Given the description of an element on the screen output the (x, y) to click on. 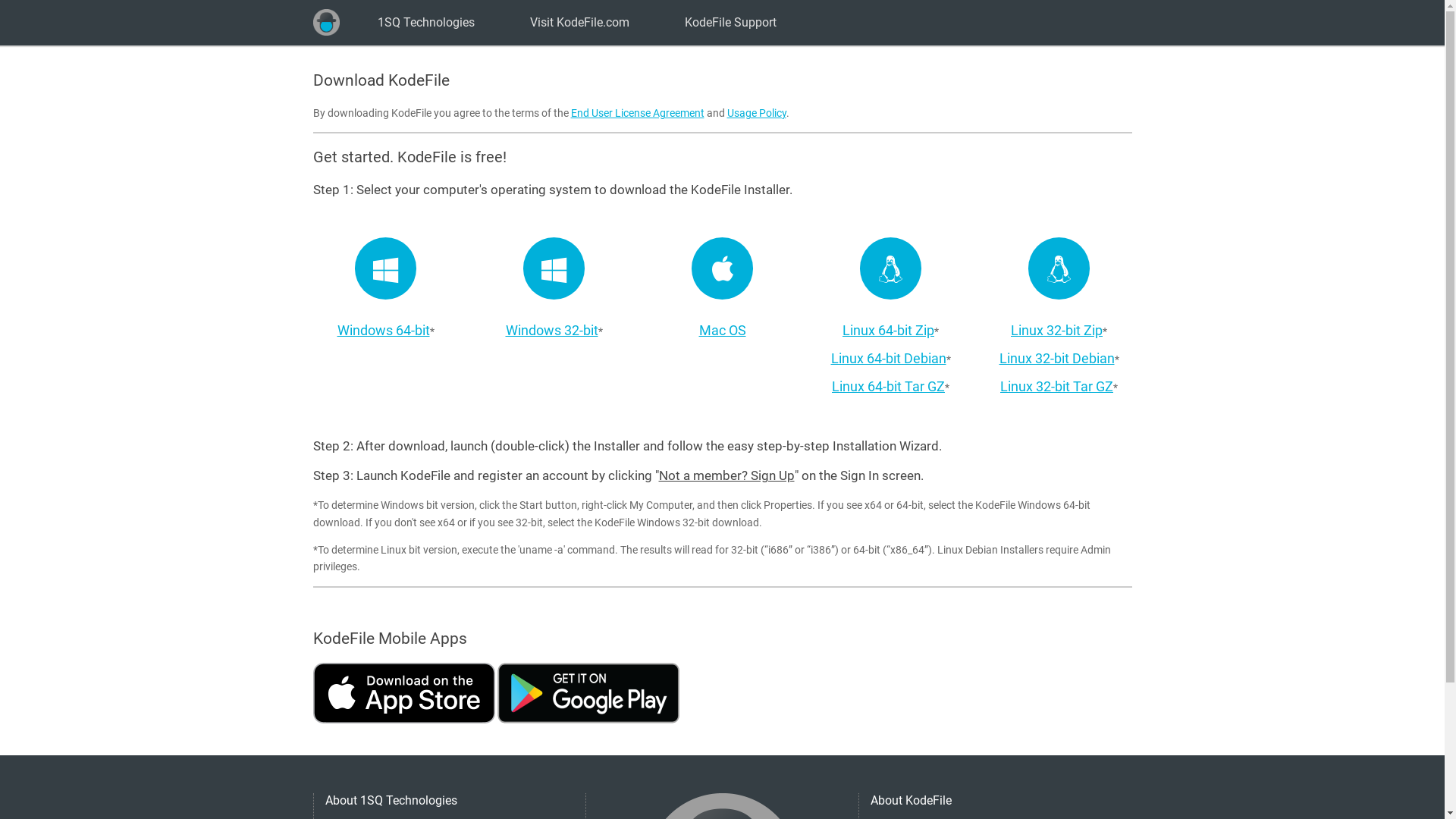
Windows 32-bit Element type: text (551, 330)
KodeFile Support Element type: text (730, 22)
Windows 64-bit Element type: text (382, 330)
1SQ Technologies Element type: text (425, 22)
Linux 64-bit Debian Element type: text (888, 358)
Linux 32-bit Zip Element type: text (1056, 330)
Usage Policy Element type: text (755, 112)
Linux 32-bit Tar GZ Element type: text (1056, 386)
Linux 64-bit Zip Element type: text (888, 330)
1SQ Technologies Element type: hover (325, 22)
Visit KodeFile.com Element type: text (579, 22)
End User License Agreement Element type: text (636, 112)
Linux 64-bit Tar GZ Element type: text (887, 386)
Linux 32-bit Debian Element type: text (1056, 358)
Mac OS Element type: text (722, 330)
